Given the description of an element on the screen output the (x, y) to click on. 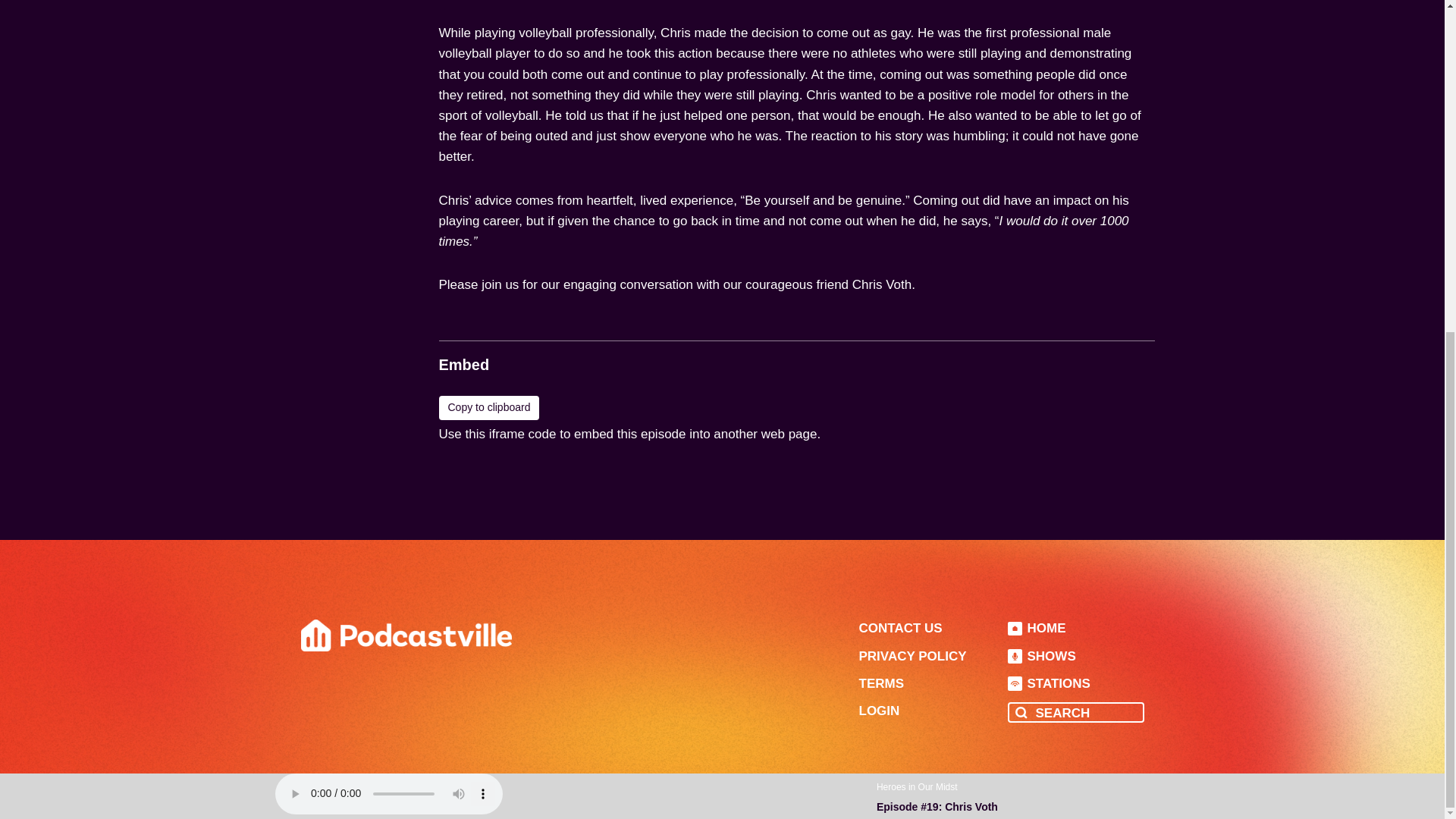
Copy to clipboard (488, 407)
PRIVACY POLICY (912, 656)
LOGIN (879, 710)
HOME (1036, 627)
STATIONS (1048, 683)
SHOWS (1041, 656)
CONTACT US (900, 627)
Heroes in Our Midst (917, 234)
TERMS (881, 683)
